Given the description of an element on the screen output the (x, y) to click on. 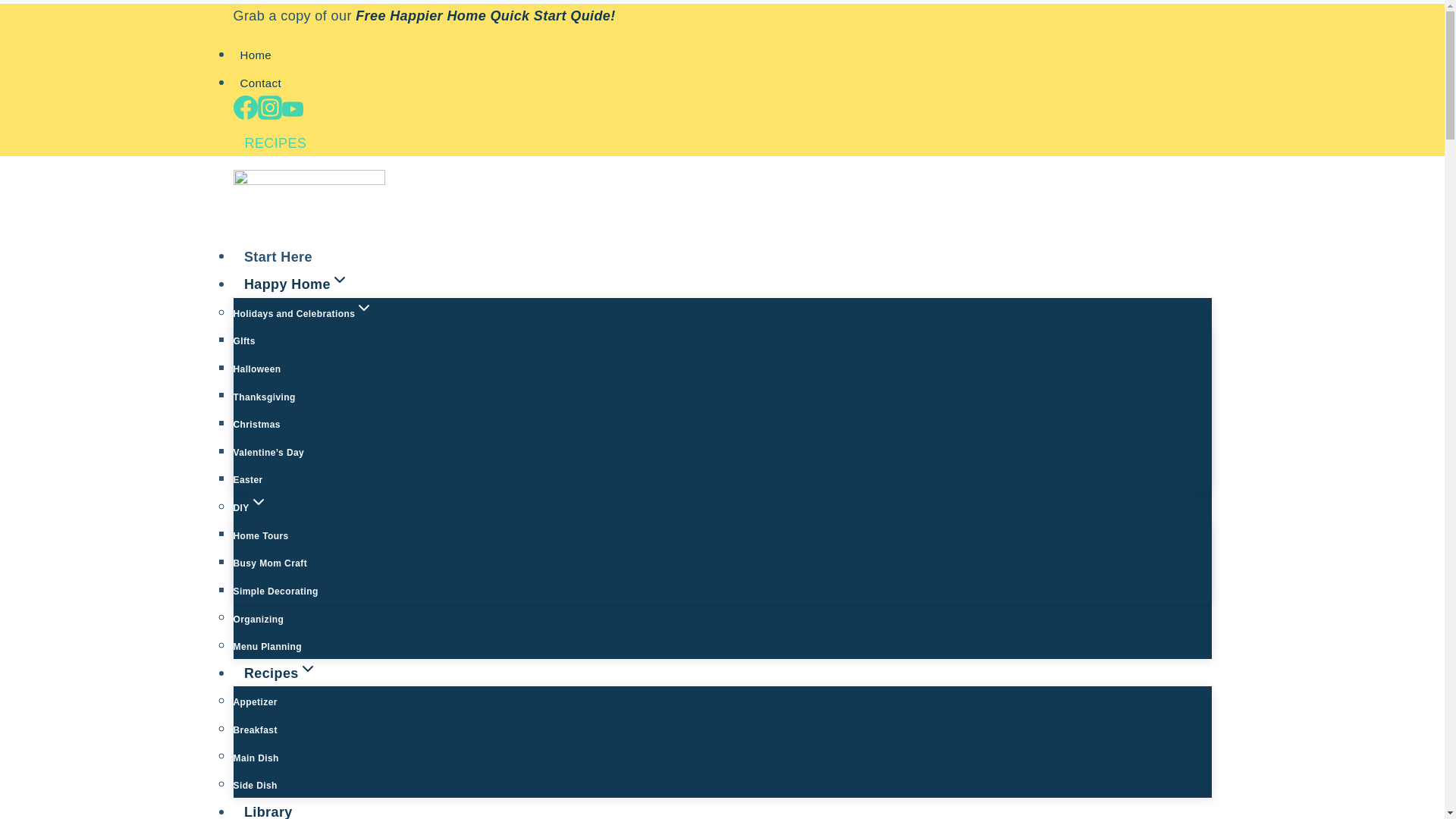
GIfts (244, 340)
Christmas (256, 424)
Appetizer (255, 701)
YouTube (292, 108)
Home (255, 54)
Busy Mom Craft (269, 563)
Thanksgiving (263, 397)
Organizing (257, 619)
Breakfast (255, 729)
Simple Decorating (275, 591)
Contact (260, 82)
Free Happier Home Quick Start Quide!  (487, 15)
RecipesExpand (280, 673)
Main Dish (255, 758)
Start Here (277, 256)
